Given the description of an element on the screen output the (x, y) to click on. 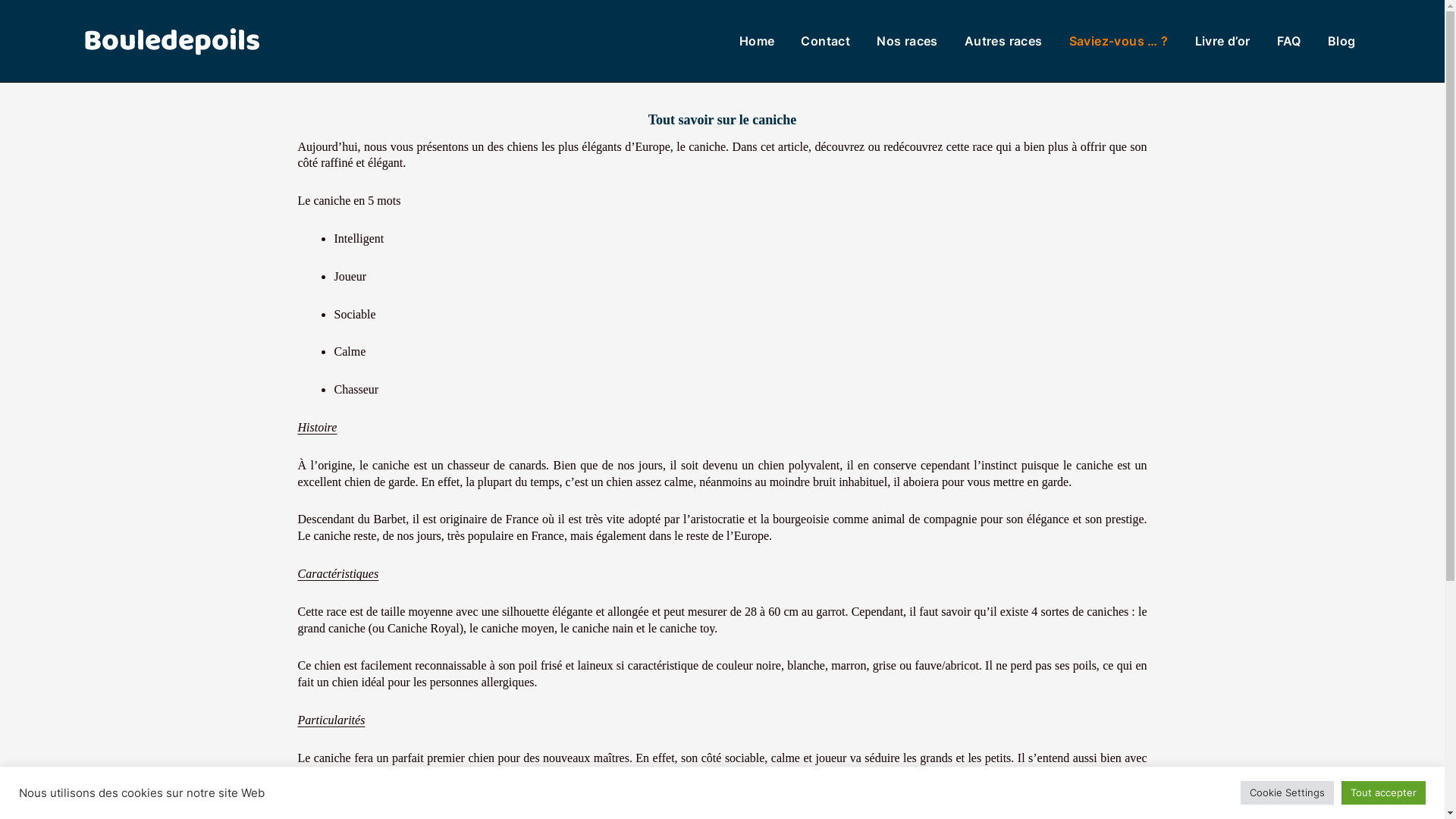
Autres races Element type: text (1003, 40)
Nos races Element type: text (907, 40)
Cookie Settings Element type: text (1286, 792)
Contact Element type: text (825, 40)
Tout accepter Element type: text (1383, 792)
Blog Element type: text (1341, 40)
Home Element type: text (757, 40)
FAQ Element type: text (1289, 40)
